Given the description of an element on the screen output the (x, y) to click on. 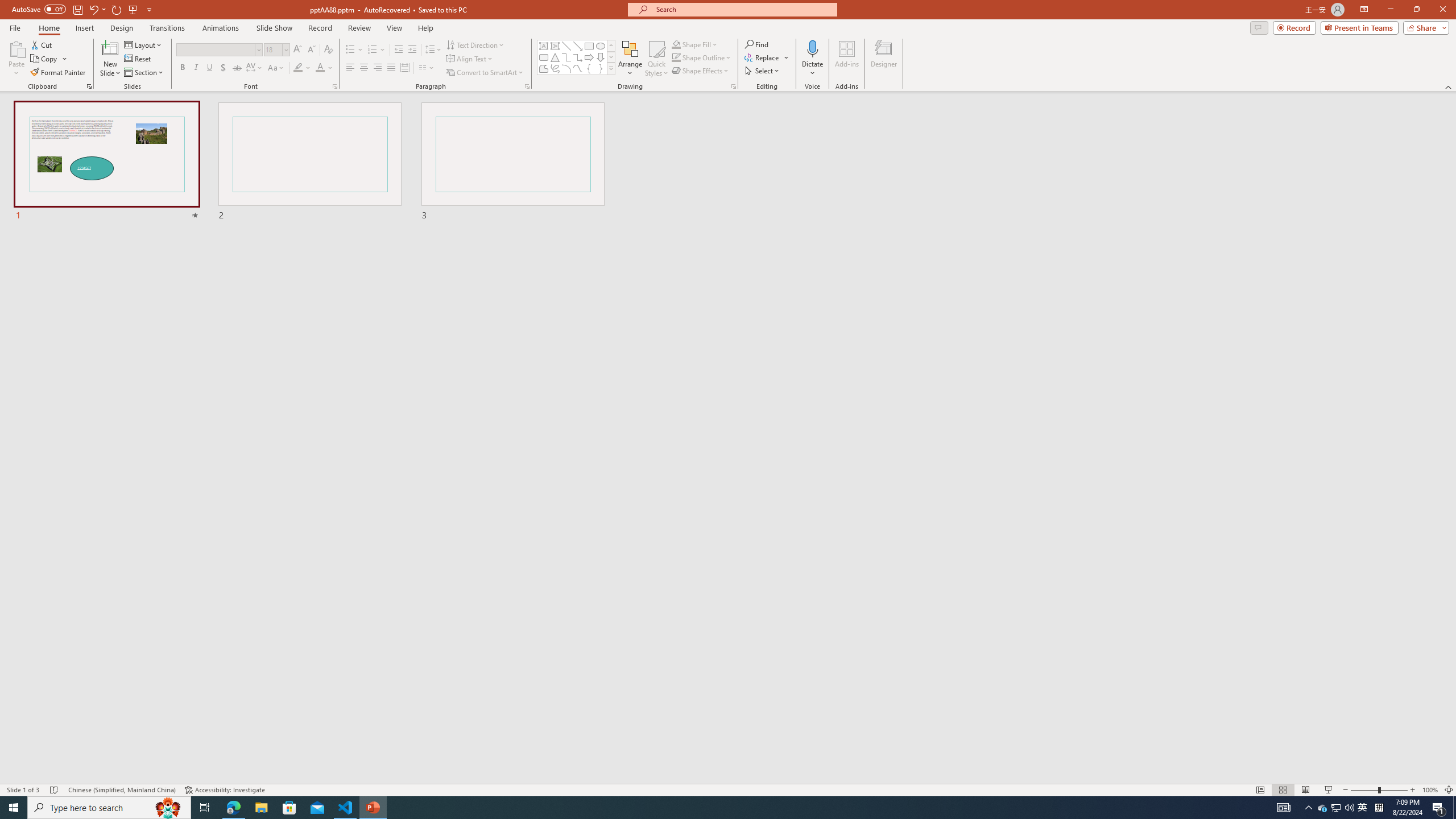
AutomationID: ShapesInsertGallery (576, 57)
Reset (138, 58)
Shape Outline (701, 56)
Copy (49, 58)
Zoom to Fit  (1449, 790)
Arrange (630, 58)
Shadow (223, 67)
Collapse the Ribbon (1448, 86)
Replace... (762, 56)
Change Case (276, 67)
Font (215, 49)
Distributed (404, 67)
Customize Quick Access Toolbar (149, 9)
Shape Fill (694, 44)
Font Size (276, 49)
